Given the description of an element on the screen output the (x, y) to click on. 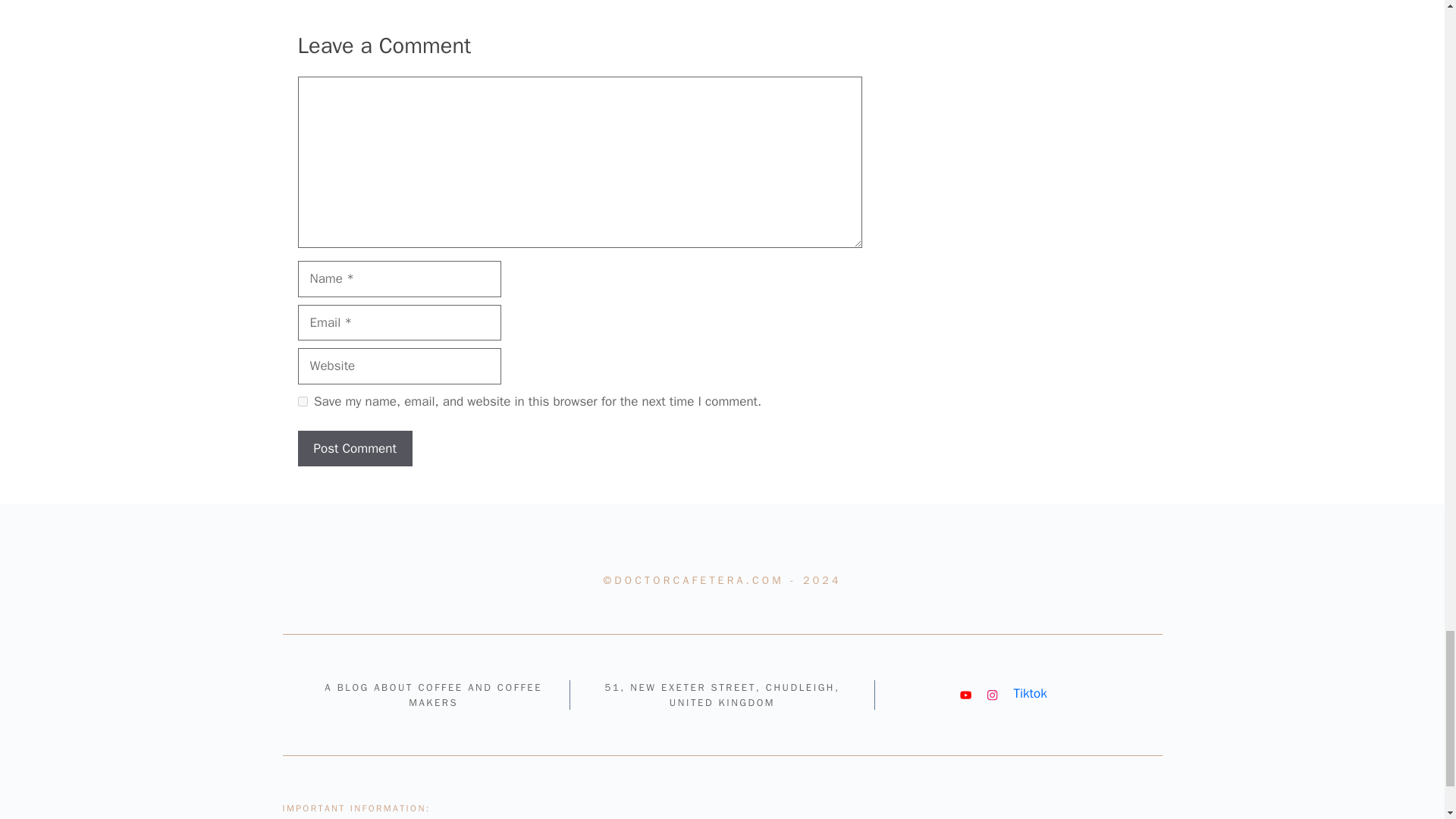
Post Comment (354, 448)
yes (302, 401)
Post Comment (354, 448)
